Given the description of an element on the screen output the (x, y) to click on. 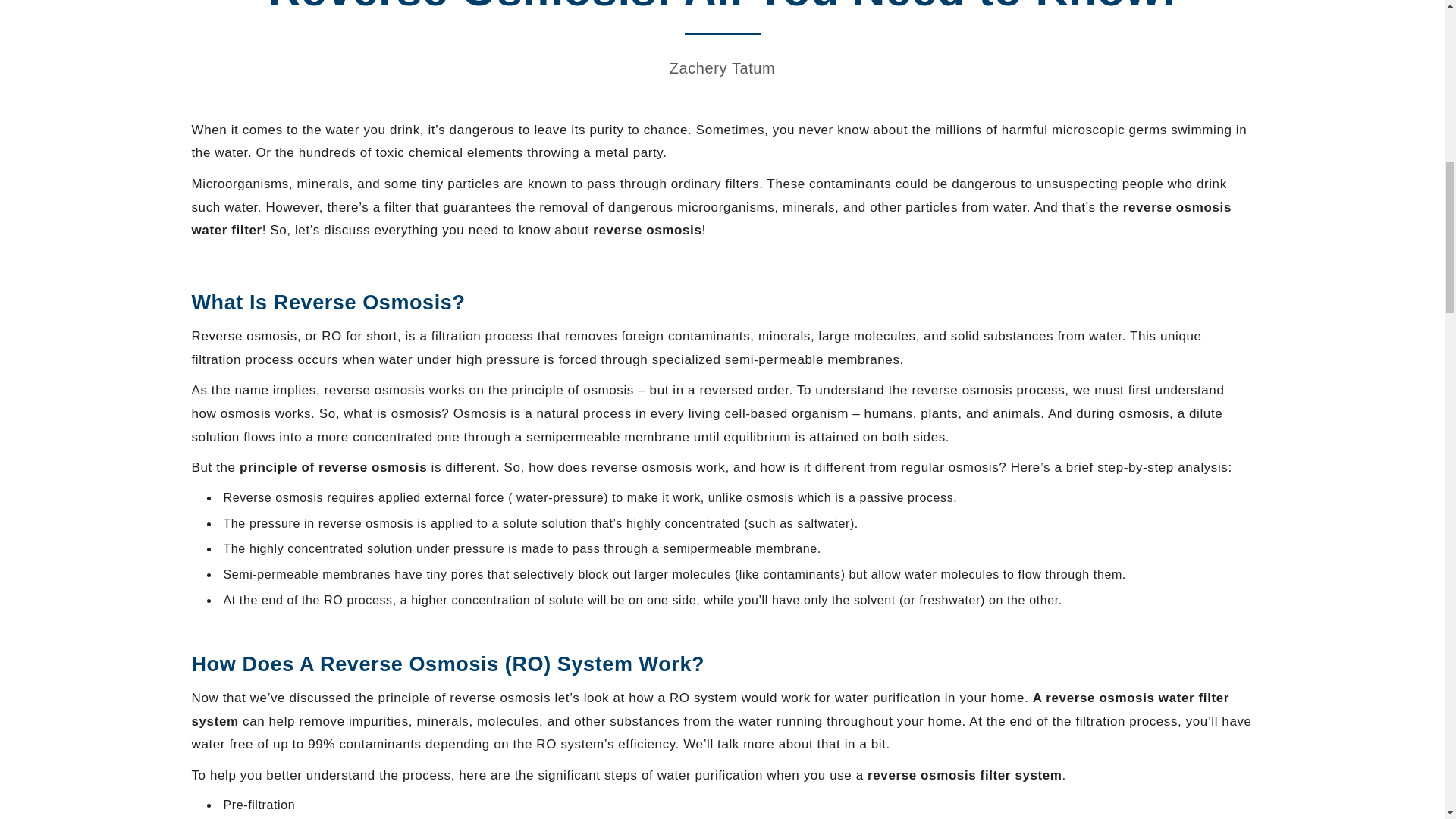
reverse osmosis (243, 336)
